Given the description of an element on the screen output the (x, y) to click on. 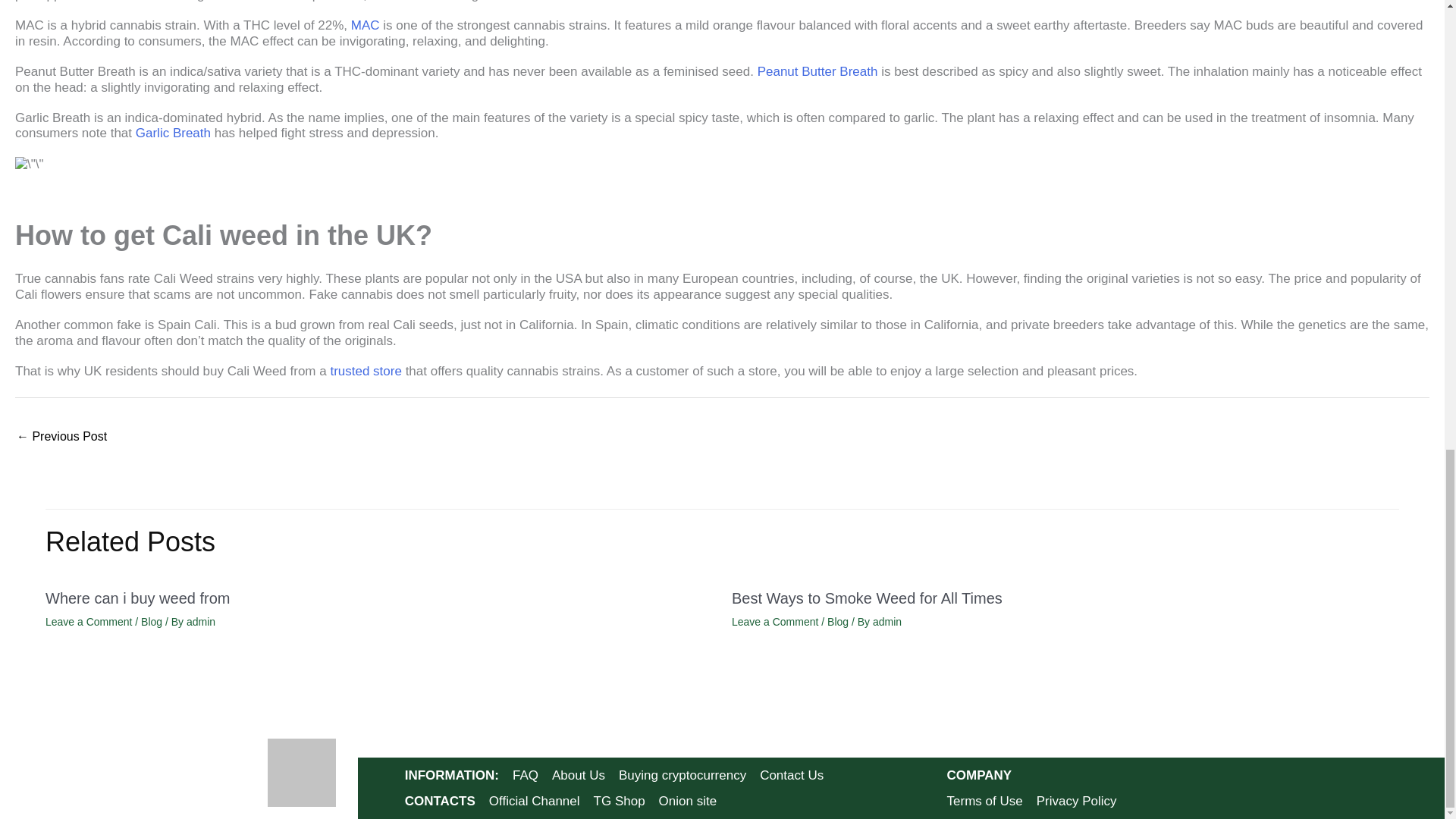
Best Ways to Smoke Weed for All Times (61, 438)
Garlic Breath (173, 133)
View all posts by admin (886, 621)
trusted store (365, 370)
View all posts by admin (200, 621)
MAC (365, 25)
Peanut Butter Breath (817, 71)
Where can i buy weed from (137, 597)
